Given the description of an element on the screen output the (x, y) to click on. 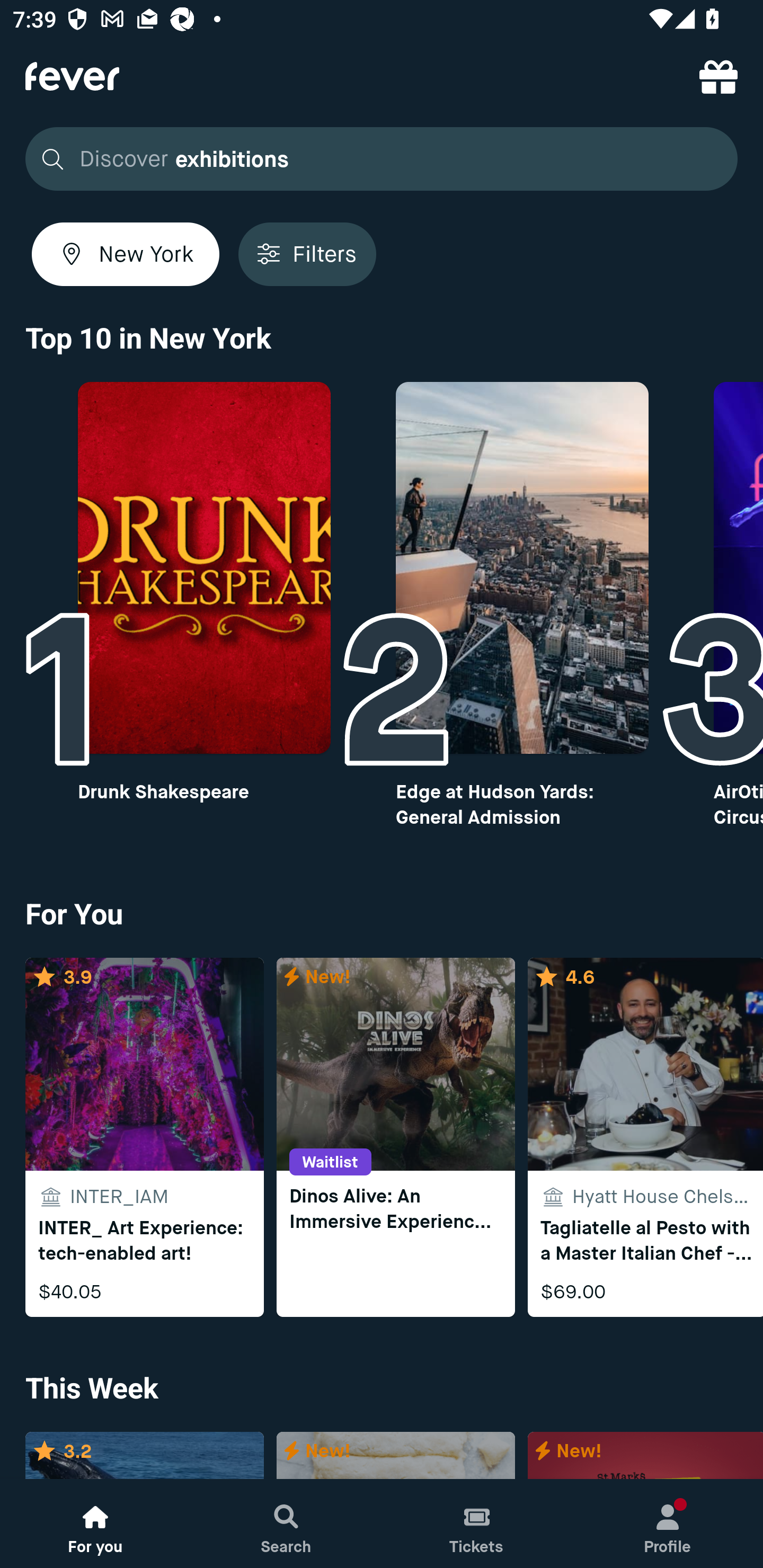
referral (718, 75)
Discover exhibitions (381, 158)
Discover exhibitions (376, 158)
New York (125, 253)
Filters (307, 253)
Top10 image (203, 568)
Top10 image (521, 568)
Search (285, 1523)
Tickets (476, 1523)
Profile, New notification Profile (667, 1523)
